Given the description of an element on the screen output the (x, y) to click on. 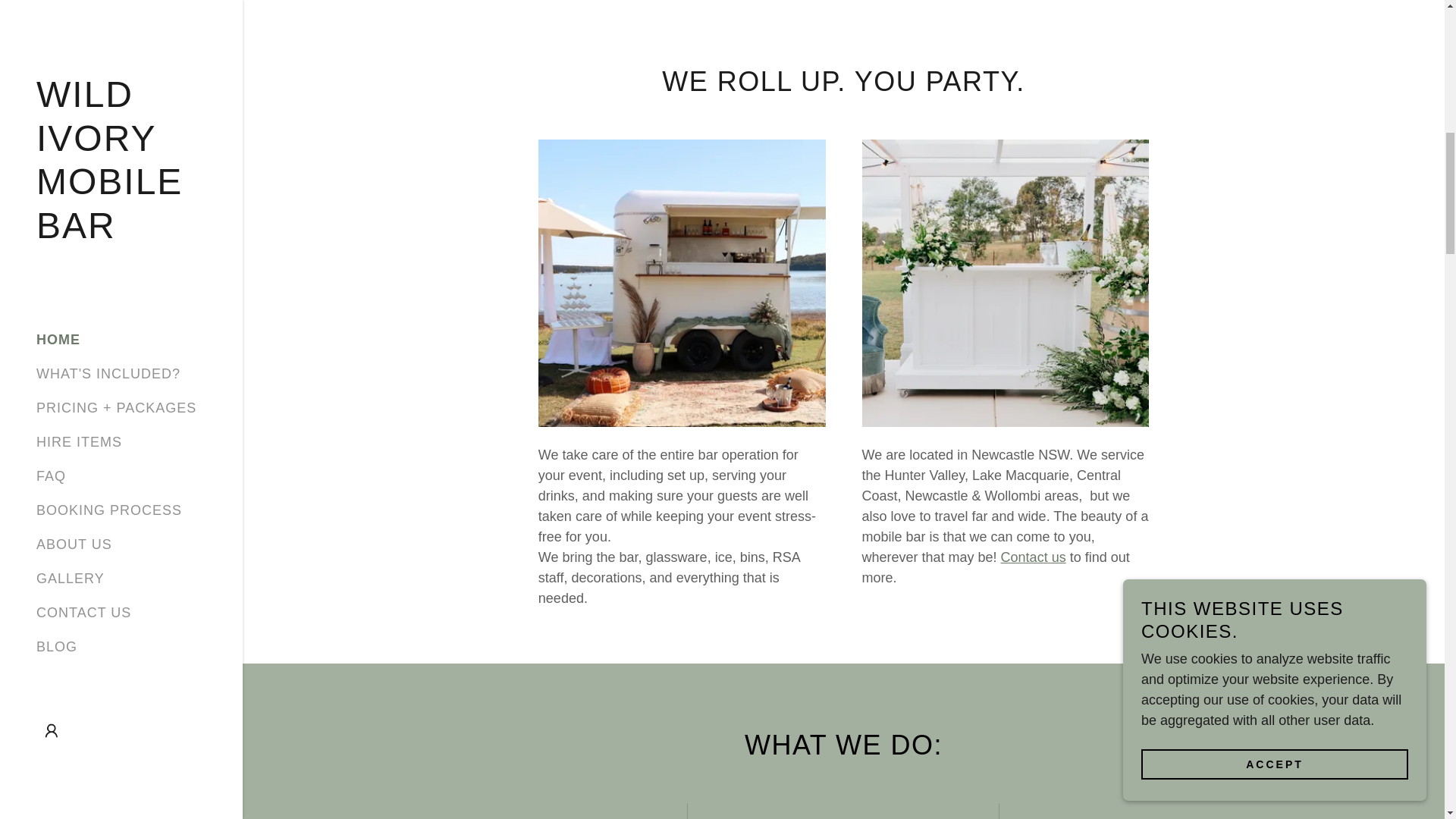
Contact us (1033, 557)
